Given the description of an element on the screen output the (x, y) to click on. 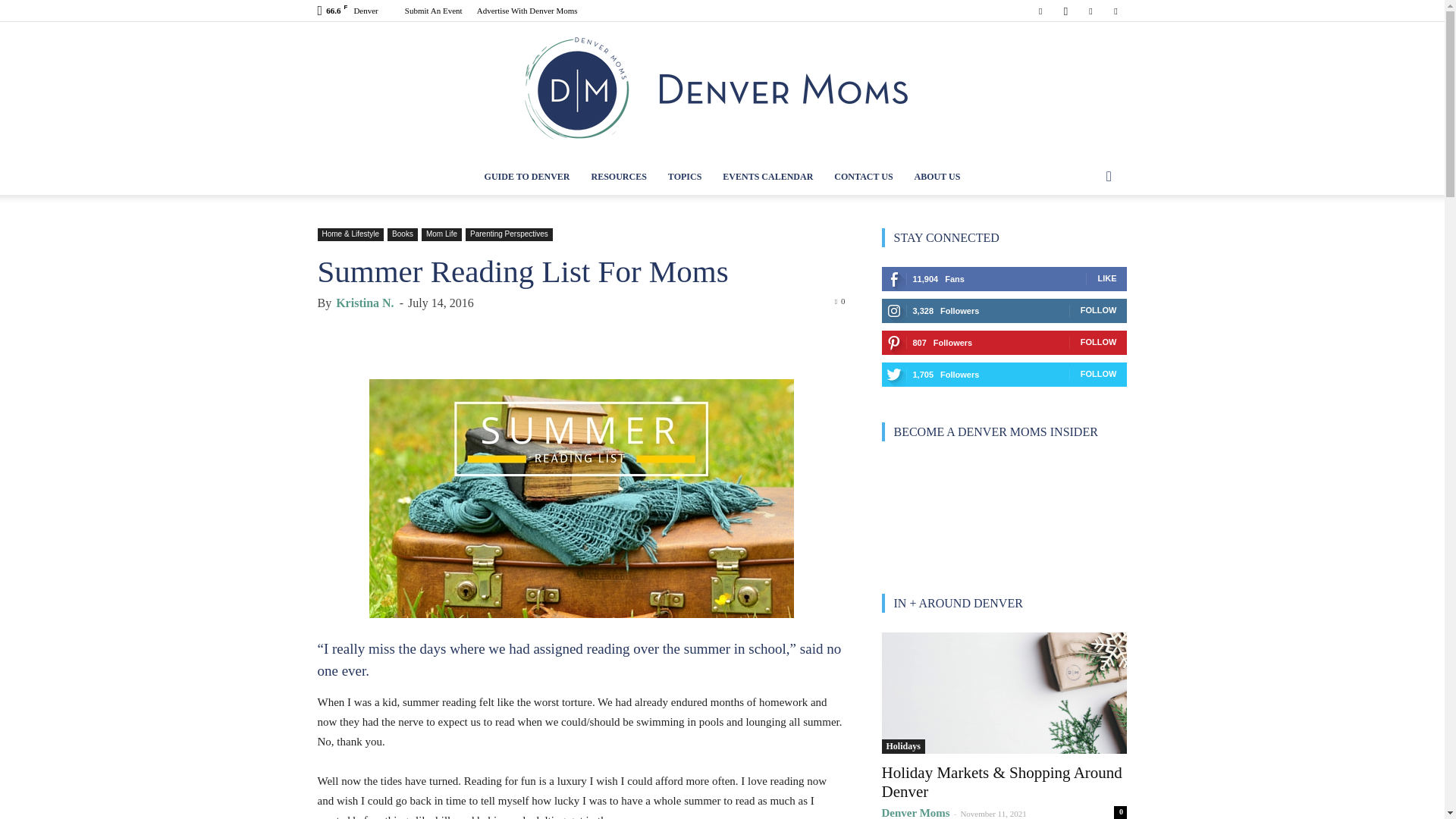
Instagram (1065, 10)
Facebook (1040, 10)
Pinterest (1090, 10)
Twitter (1114, 10)
Denver Moms (721, 90)
Advertise With Denver Moms (527, 10)
Submit An Event (433, 10)
